Given the description of an element on the screen output the (x, y) to click on. 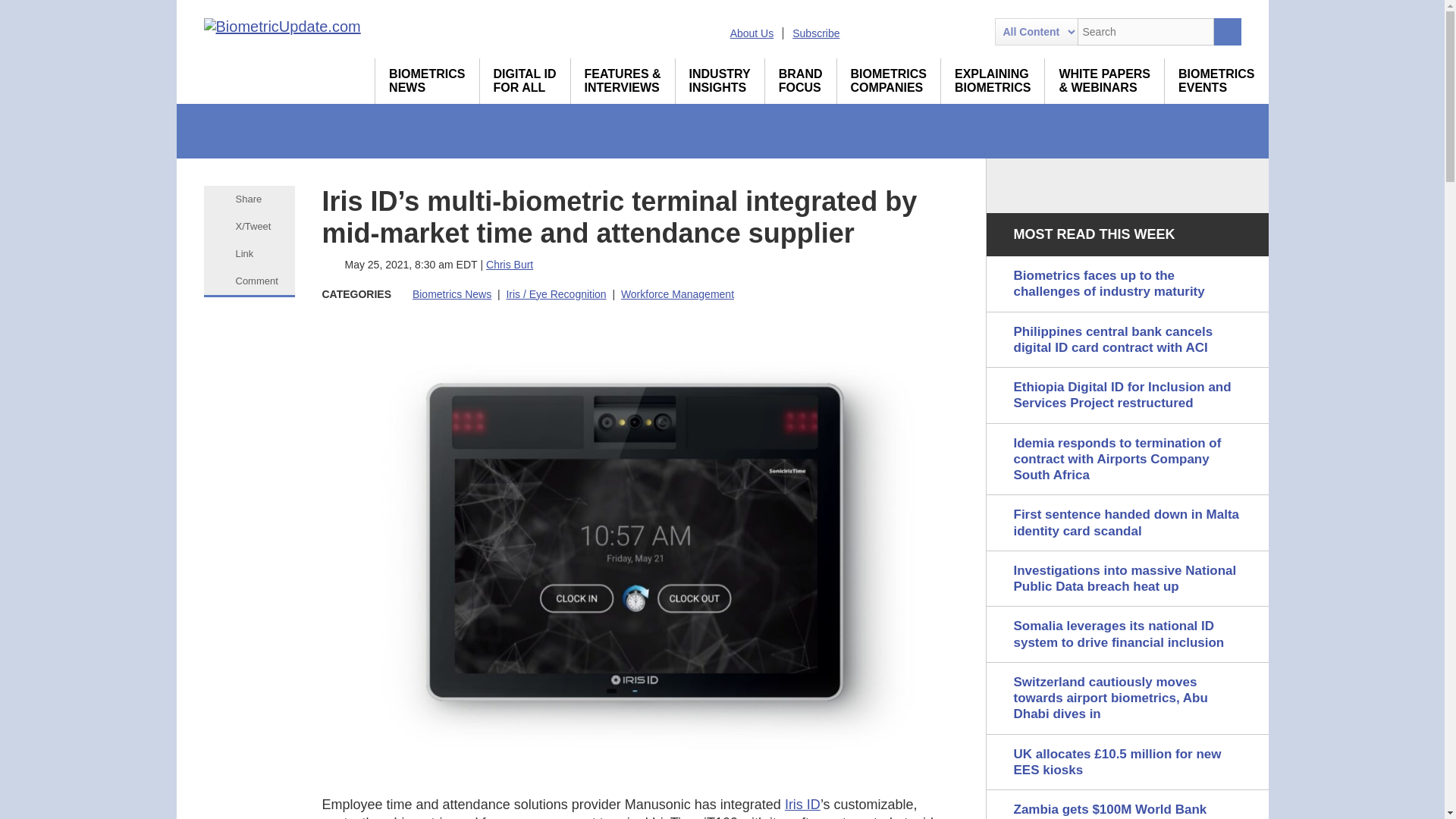
spotify (971, 31)
Biometrics marketplace brand focus (800, 81)
Daily biometrics news and interviews (427, 81)
facebook (944, 31)
Biometrics and digital ID initiatives in developing nations (525, 81)
Trade shows featuring biometrics technology (1216, 81)
rss (862, 31)
Features, interviews and special reports (622, 81)
About Us (751, 33)
twitter (917, 31)
